Given the description of an element on the screen output the (x, y) to click on. 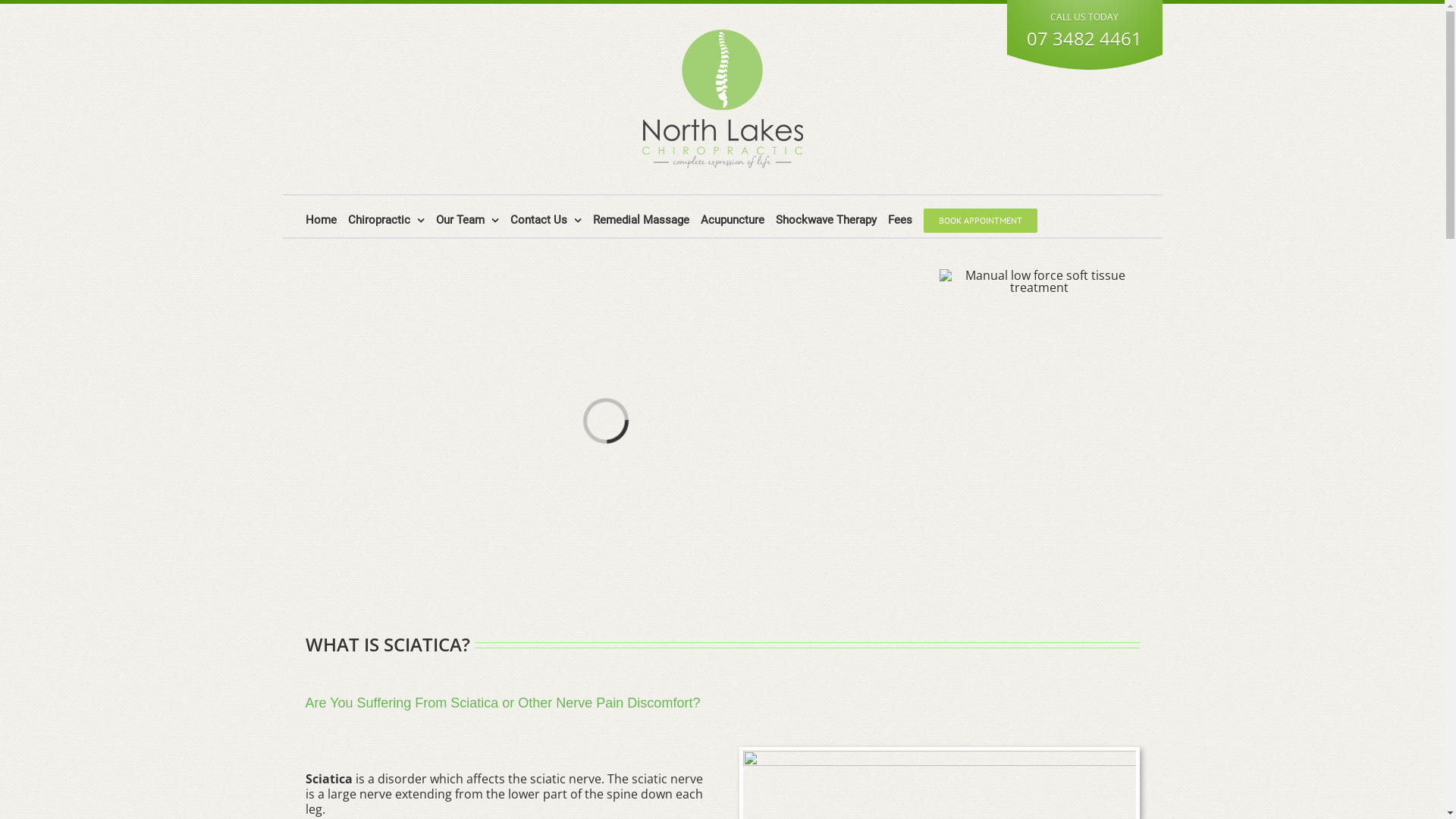
Fees Element type: text (899, 220)
Sciatica Element type: text (327, 778)
Remedial Massage Element type: text (641, 220)
Chiropractic Element type: text (385, 220)
Home Element type: text (319, 220)
Contact Us Element type: text (544, 220)
Our Team Element type: text (466, 220)
Acupuncture Element type: text (732, 220)
For New Patients Element type: hover (1038, 281)
Shockwave Therapy Element type: text (825, 220)
sciatic nerve Element type: text (666, 778)
BOOK APPOINTMENT Element type: text (980, 220)
